Given the description of an element on the screen output the (x, y) to click on. 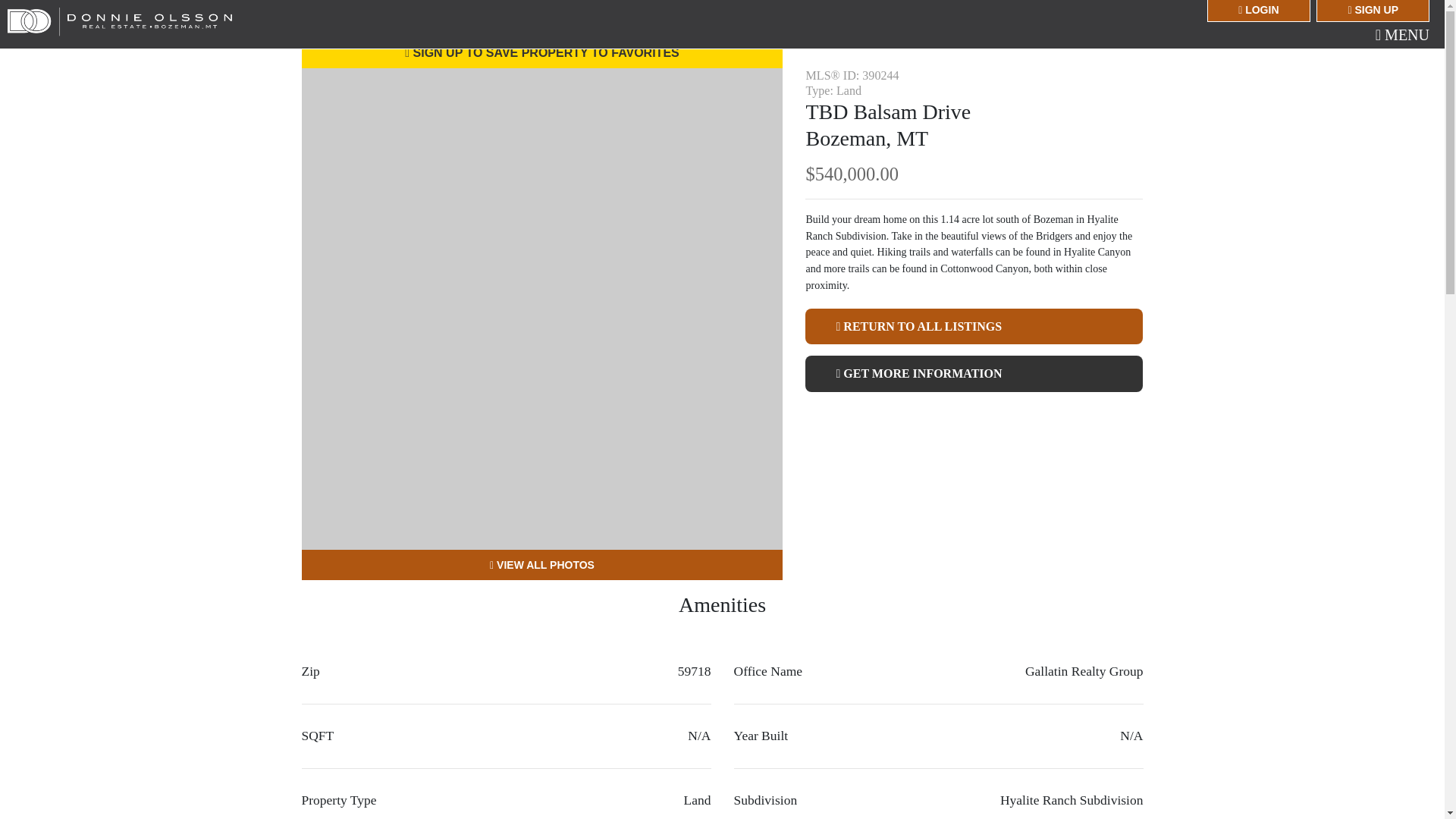
SIGN UP TO SAVE PROPERTY TO FAVORITES (542, 52)
GET MORE INFORMATION (973, 373)
LOGIN (1257, 11)
SIGN UP (1372, 11)
RETURN TO ALL LISTINGS (973, 325)
